Given the description of an element on the screen output the (x, y) to click on. 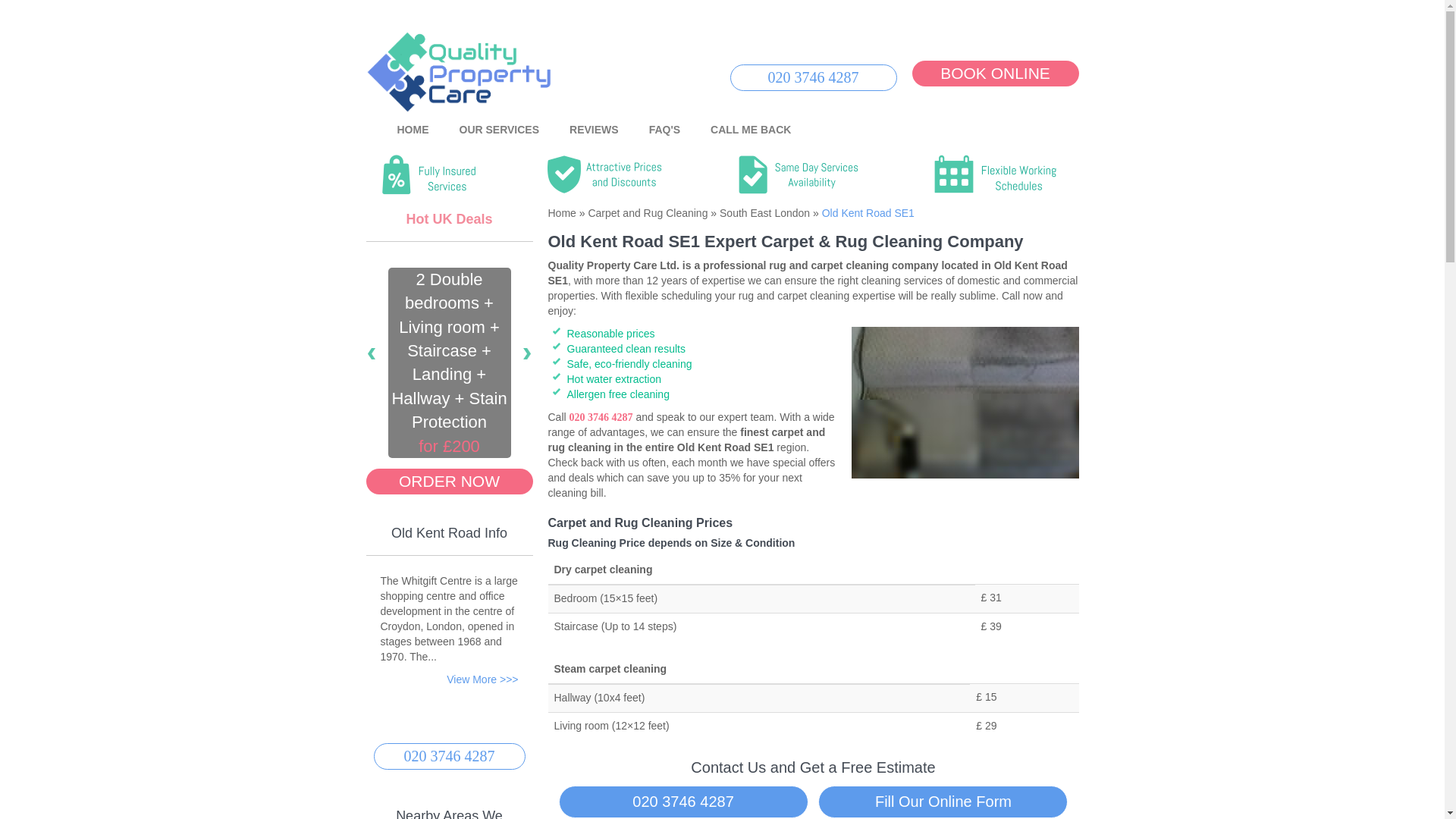
We cover Britain (812, 60)
HOME (413, 130)
Quality Property Care Ltd. (413, 130)
REVIEWS (594, 130)
BOOK ONLINE (994, 73)
Call Quality Property Care Ltd. on 020 3746 4287 (812, 77)
Quality Property Care Ltd. Reviews (594, 130)
Carpet and Rug Cleaning (646, 213)
020 3746 4287 (812, 77)
OUR SERVICES (499, 130)
020 3746 4287 (683, 801)
Home (561, 213)
Get a Free Quote (994, 73)
FAQ'S (664, 130)
South East London (762, 213)
